Given the description of an element on the screen output the (x, y) to click on. 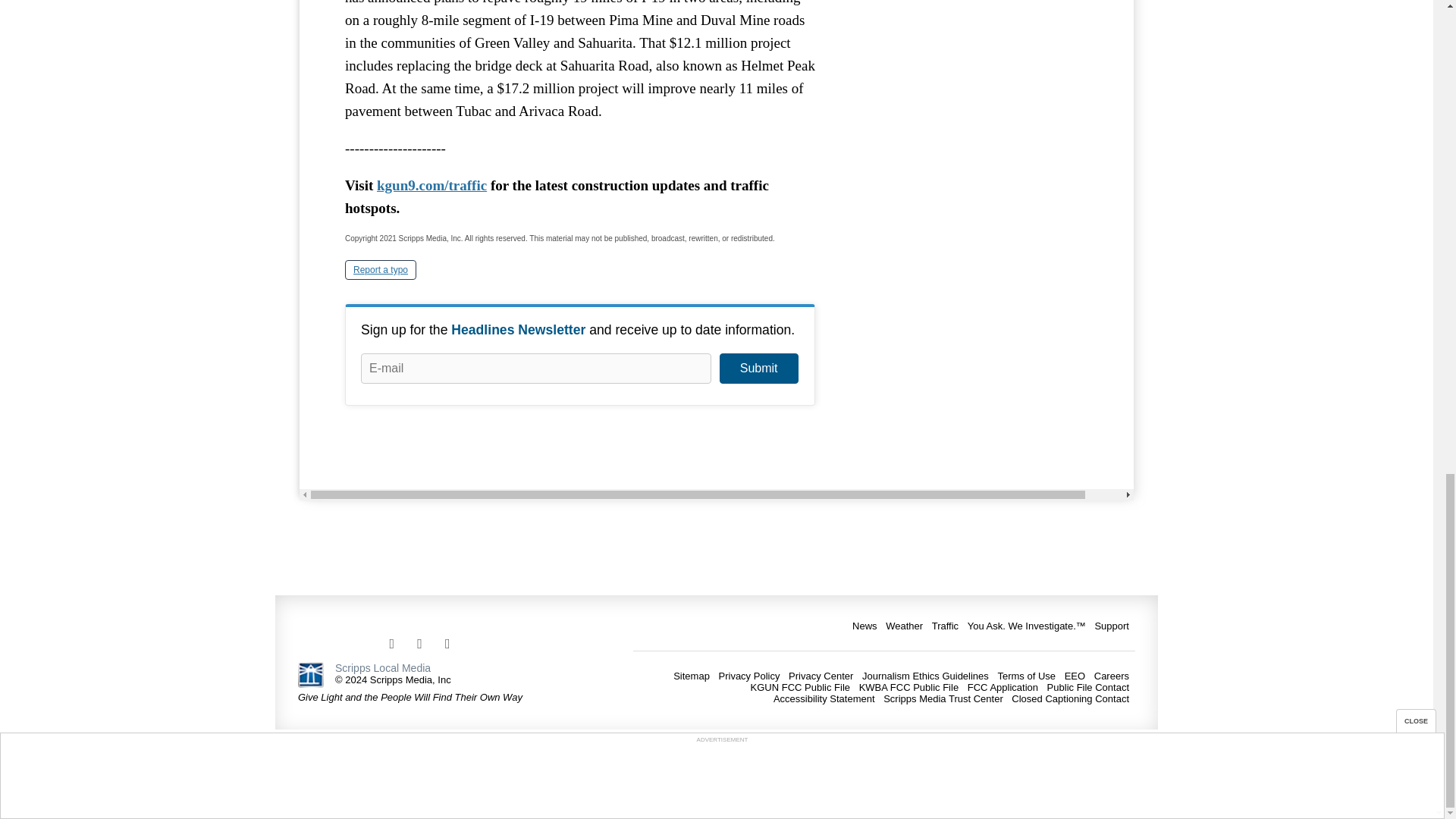
Submit (758, 368)
